Given the description of an element on the screen output the (x, y) to click on. 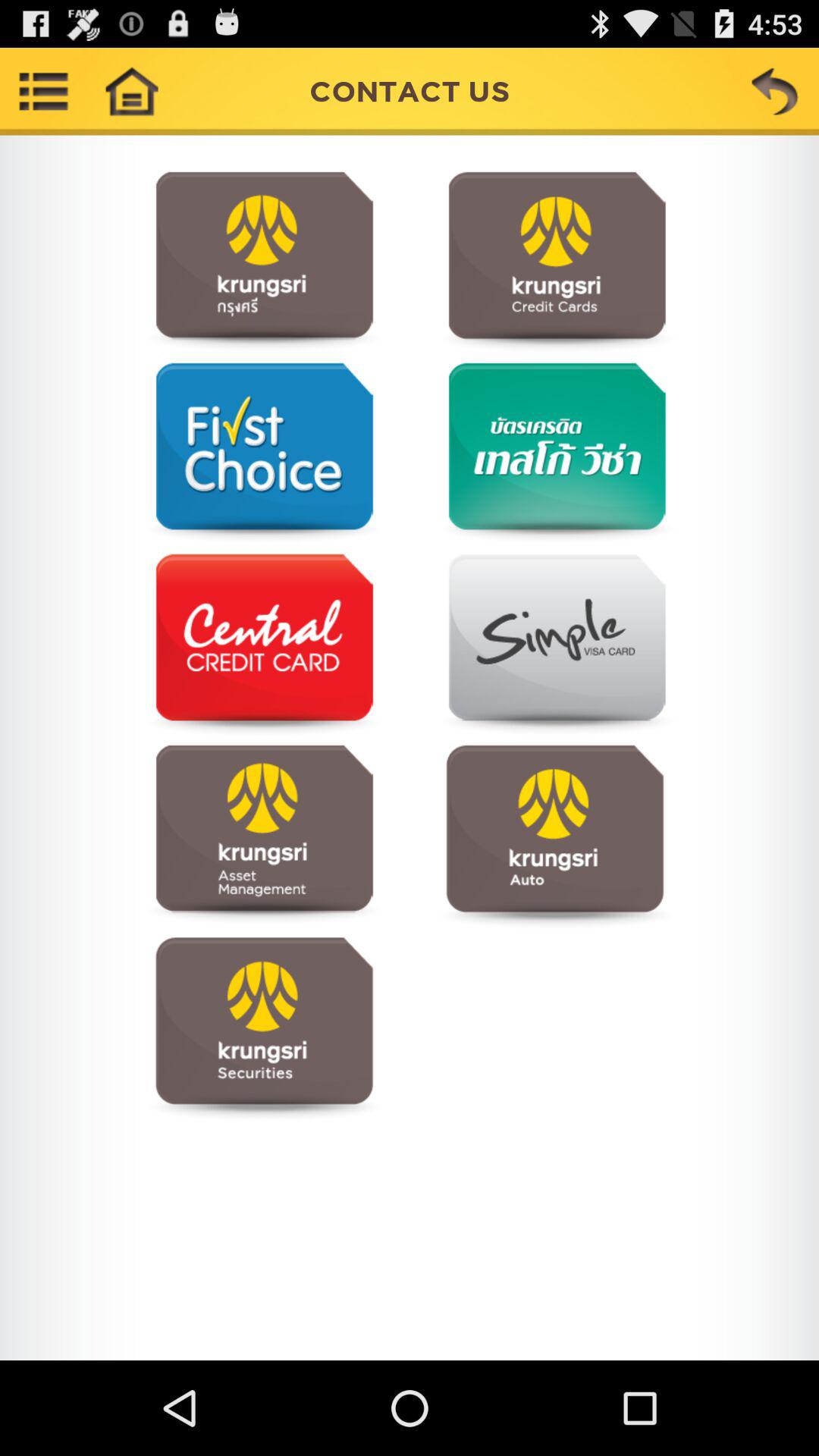
go to home (131, 91)
